Given the description of an element on the screen output the (x, y) to click on. 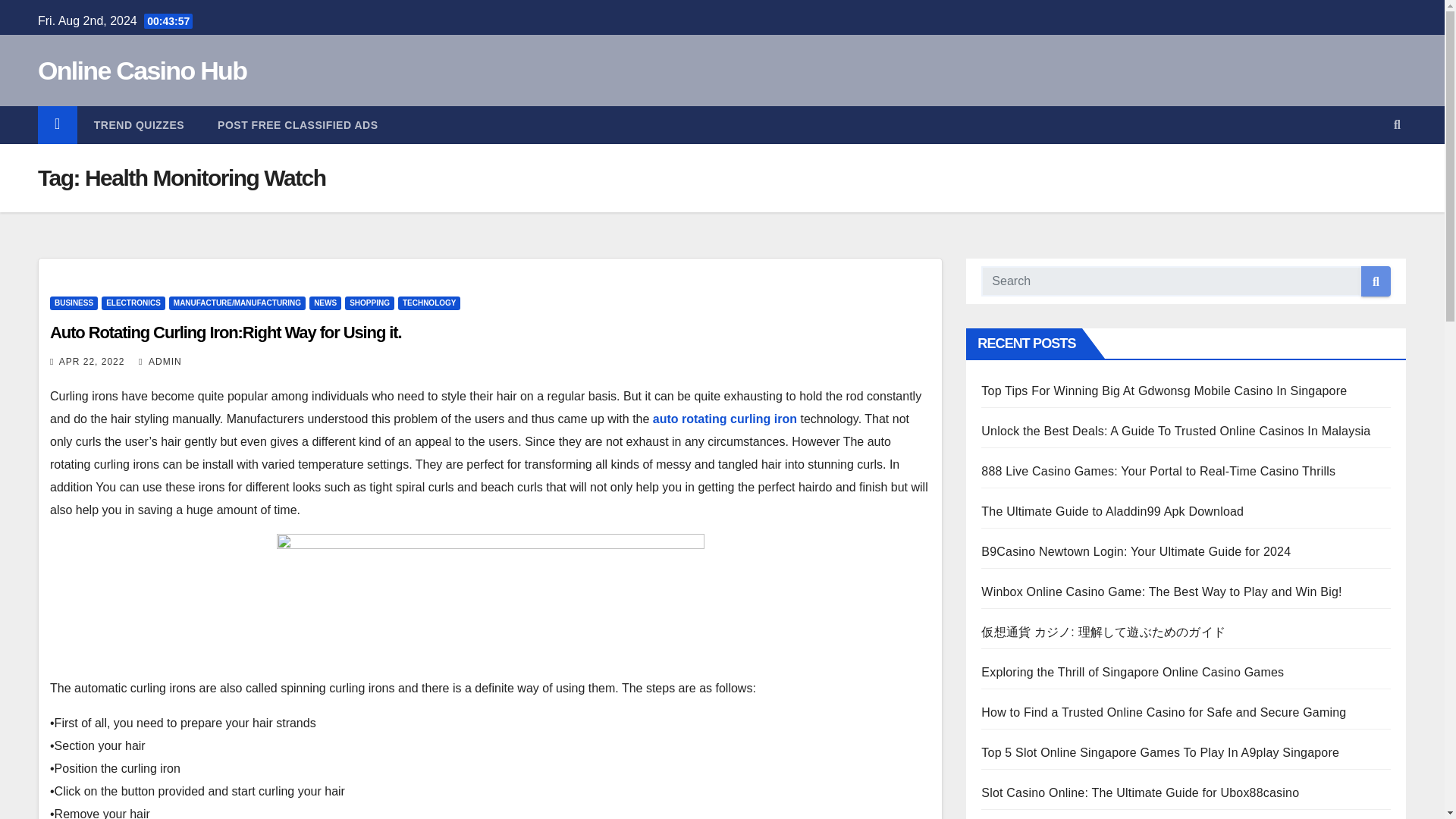
Trend Quizzes (138, 125)
ADMIN (160, 361)
TREND QUIZZES (138, 125)
Post Free Classified Ads (297, 125)
SHOPPING (369, 303)
NEWS (324, 303)
Auto Rotating Curling Iron:Right Way for Using it. (225, 332)
ELECTRONICS (133, 303)
BUSINESS (73, 303)
APR 22, 2022 (92, 361)
TECHNOLOGY (429, 303)
auto rotating curling iron (724, 418)
POST FREE CLASSIFIED ADS (297, 125)
Online Casino Hub (141, 70)
